Given the description of an element on the screen output the (x, y) to click on. 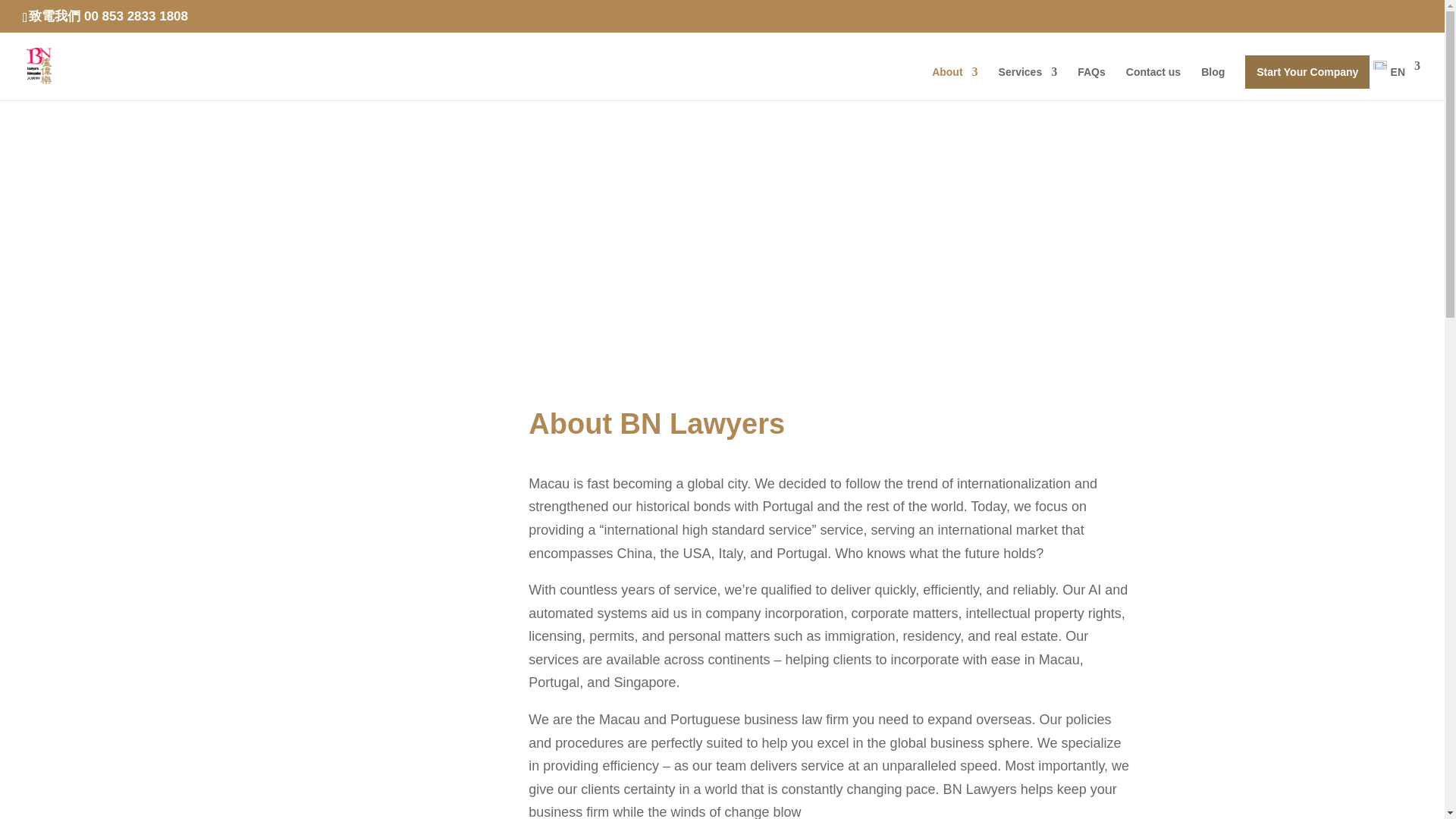
EN (1397, 79)
Services (1028, 82)
Contact us (1152, 82)
EN (1397, 79)
Start Your Company (1307, 70)
About (953, 82)
